Given the description of an element on the screen output the (x, y) to click on. 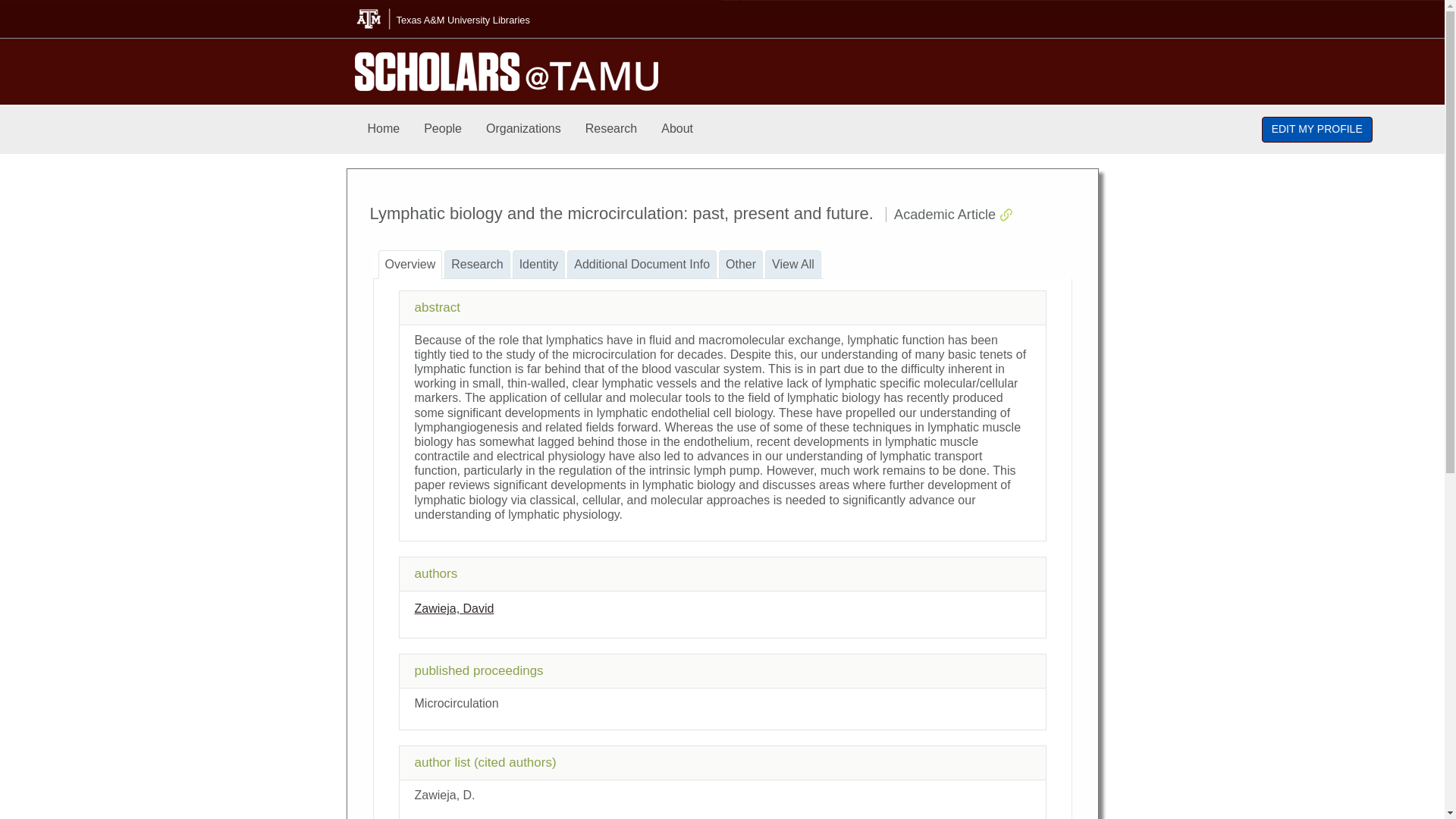
Zawieja, David (453, 608)
Research (611, 128)
Home menu item (383, 128)
Home (383, 128)
About (676, 128)
author name (453, 608)
People menu item (443, 128)
Research menu item (611, 128)
Organizations (523, 128)
Organizations menu item (523, 128)
